Given the description of an element on the screen output the (x, y) to click on. 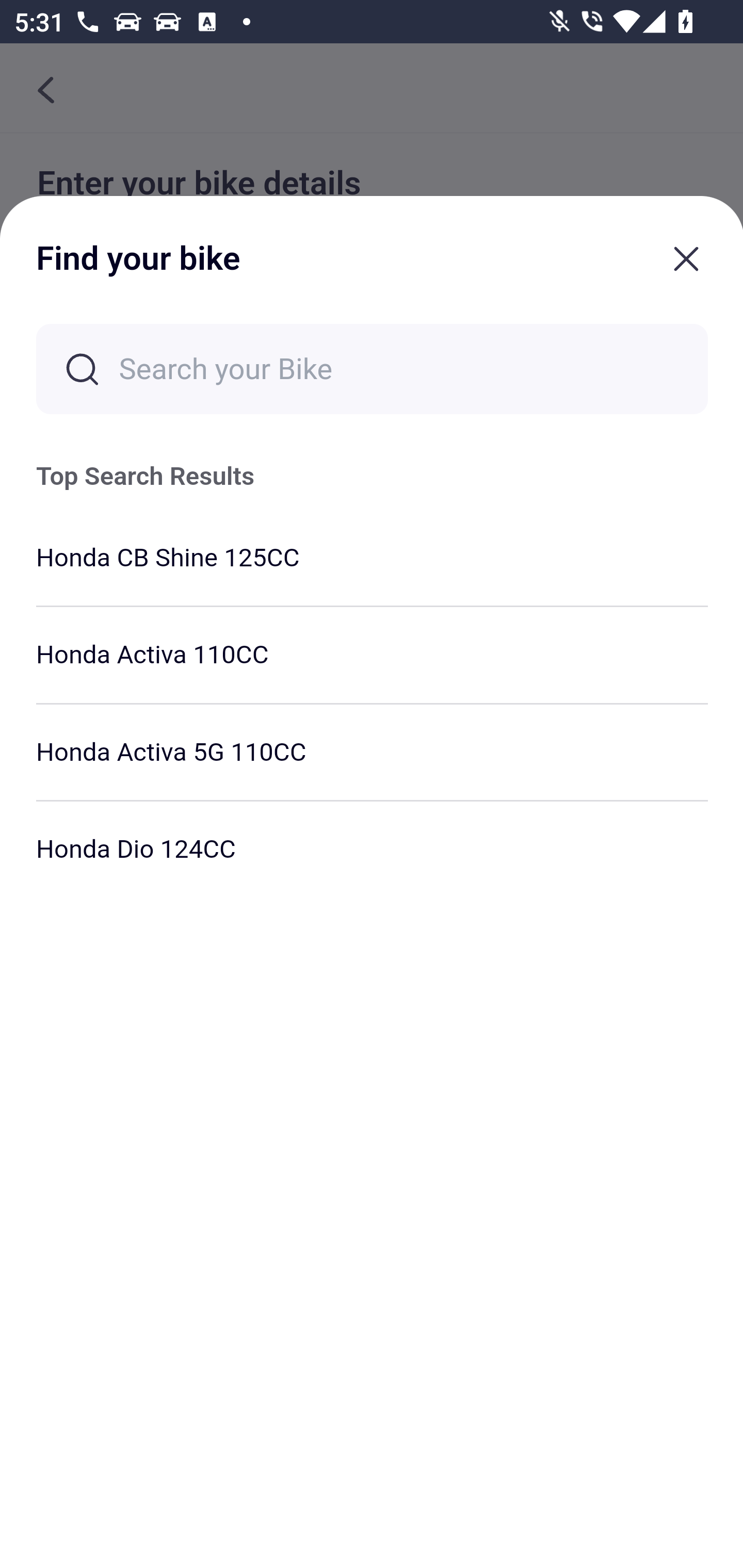
Mobile number  (372, 494)
